Given the description of an element on the screen output the (x, y) to click on. 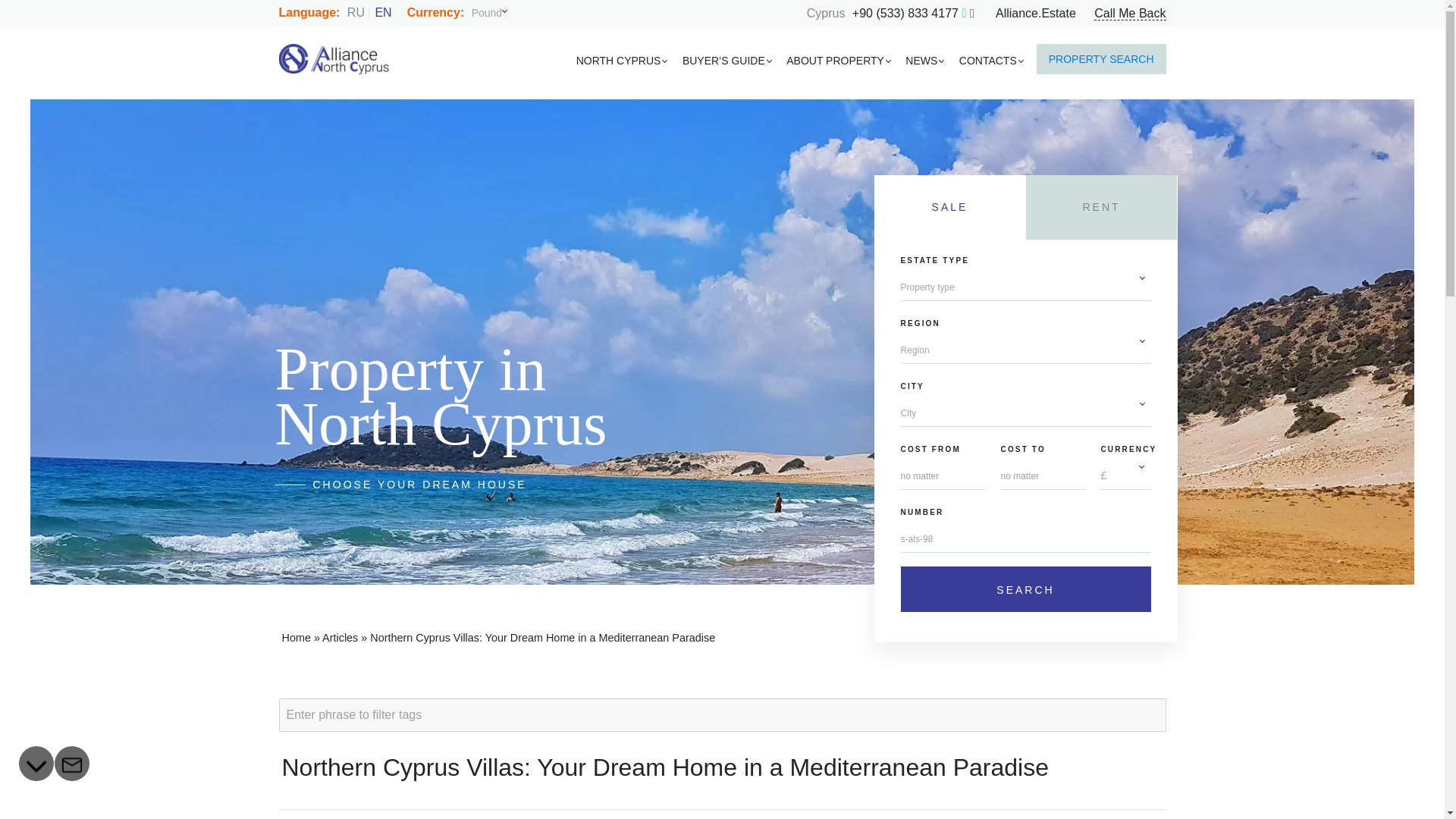
Alliance.Estate (1035, 12)
Call Me Back (1130, 13)
Search (1026, 588)
RU (359, 11)
Search (1026, 588)
PROPERTY SEARCH (1101, 59)
NEWS (921, 60)
NORTH CYPRUS (618, 60)
CONTACTS (988, 60)
ABOUT PROPERTY (834, 60)
